Given the description of an element on the screen output the (x, y) to click on. 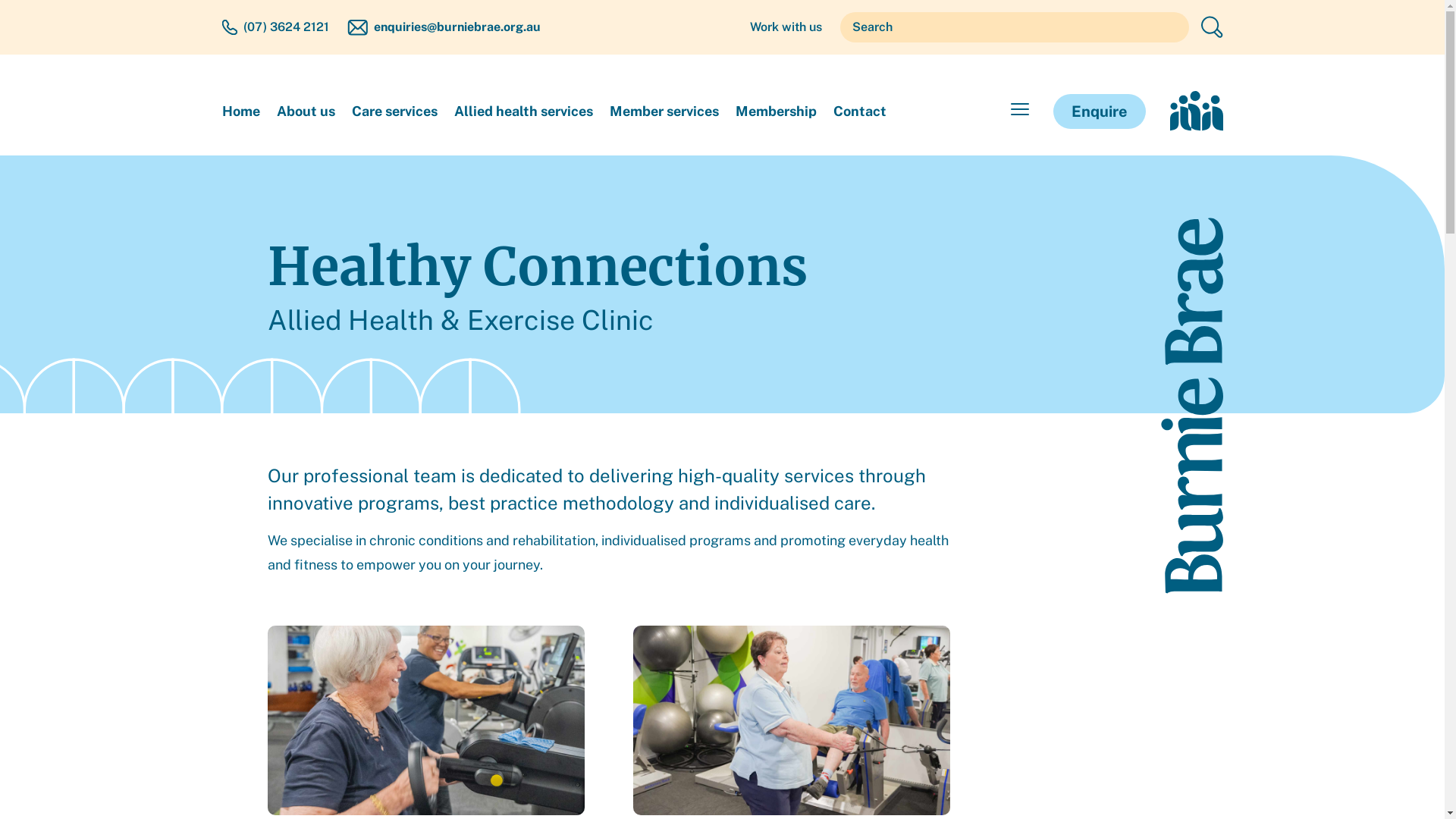
enquiries@burniebrae.org.au Element type: text (456, 27)
Care services Element type: text (394, 111)
Enquire Element type: text (1098, 111)
Membership Element type: text (775, 111)
Member services Element type: text (663, 111)
(07) 3624 2121 Element type: text (285, 27)
Work with us Element type: text (785, 26)
Allied health services Element type: text (522, 111)
Home Element type: text (240, 111)
About us Element type: text (305, 111)
Contact Element type: text (858, 111)
